Given the description of an element on the screen output the (x, y) to click on. 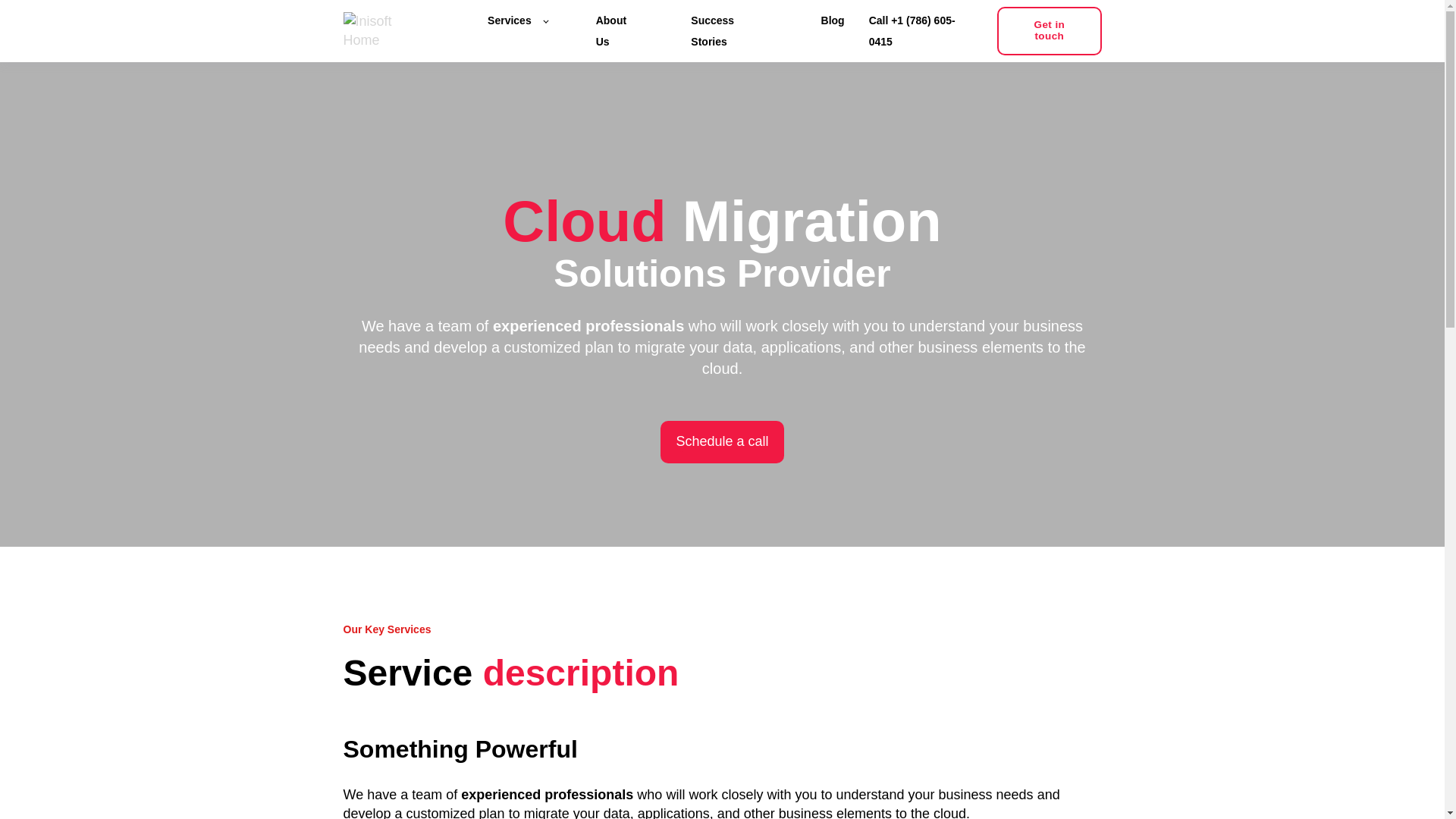
Schedule a call (721, 441)
Success Stories (730, 31)
Get in touch (1048, 30)
Services (517, 20)
